Given the description of an element on the screen output the (x, y) to click on. 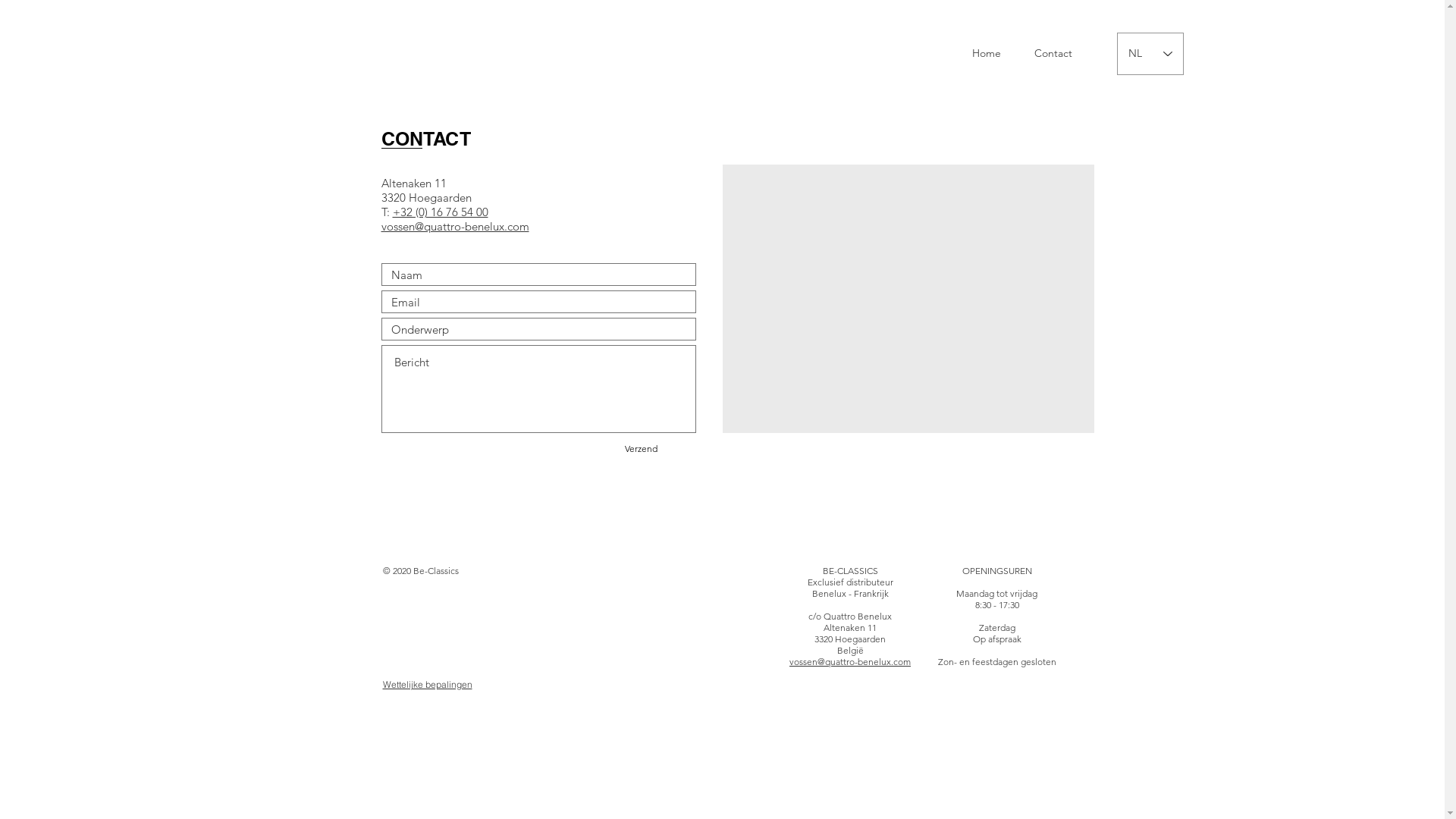
vossen@quattro-benelux.com Element type: text (454, 226)
Contact Element type: text (1052, 53)
Wettelijke bepalingen Element type: text (426, 684)
Google Maps Element type: hover (908, 298)
Verzend Element type: text (640, 448)
vossen@quattro-benelux.com Element type: text (849, 661)
Home Element type: text (985, 53)
+32 (0) 16 76 54 00 Element type: text (440, 211)
